Given the description of an element on the screen output the (x, y) to click on. 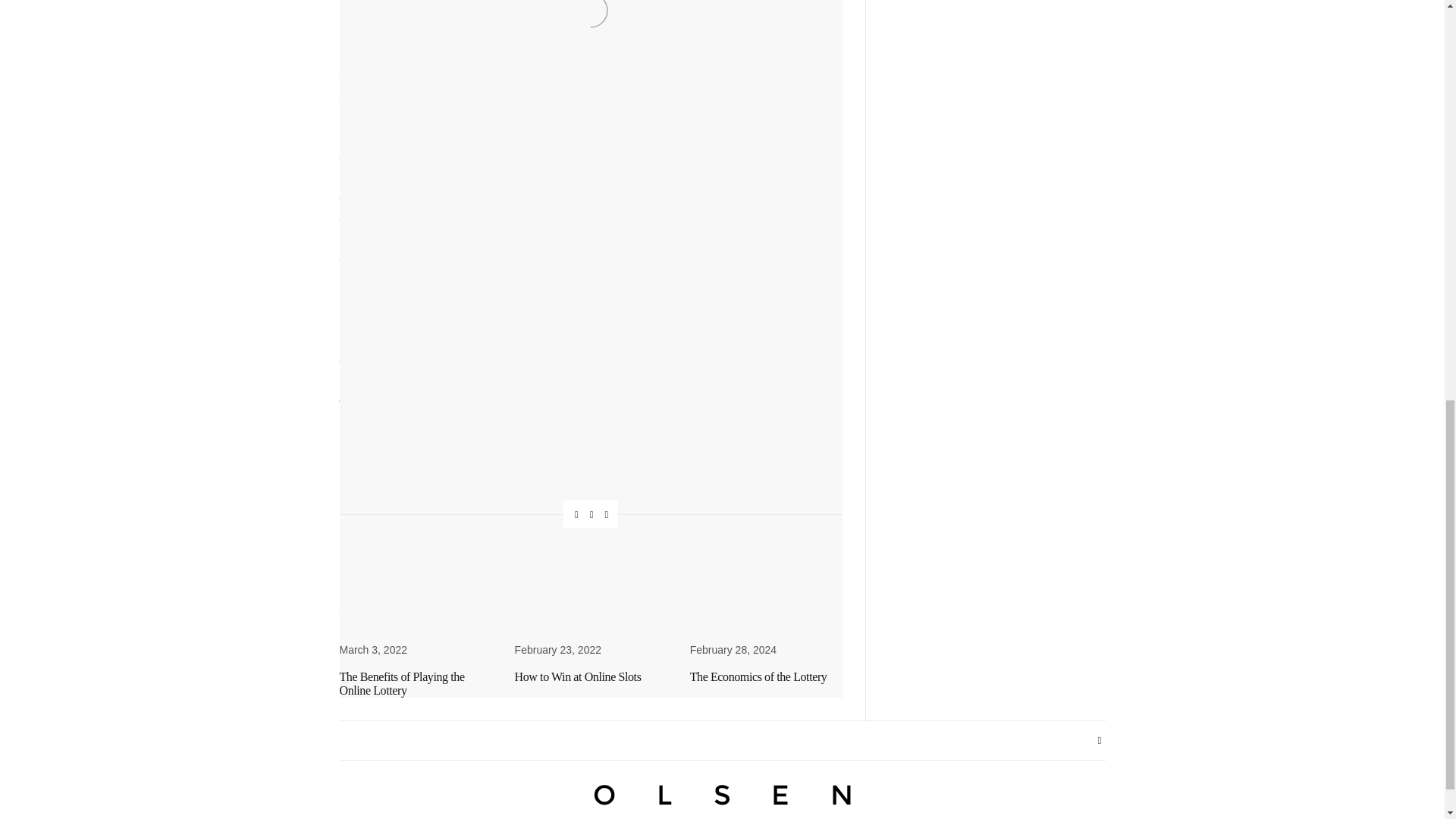
The Economics of the Lottery (758, 676)
How to Win at Online Slots (578, 676)
The Benefits of Playing the Online Lottery (401, 683)
Previous Post (465, 570)
Next Post (716, 570)
